Given the description of an element on the screen output the (x, y) to click on. 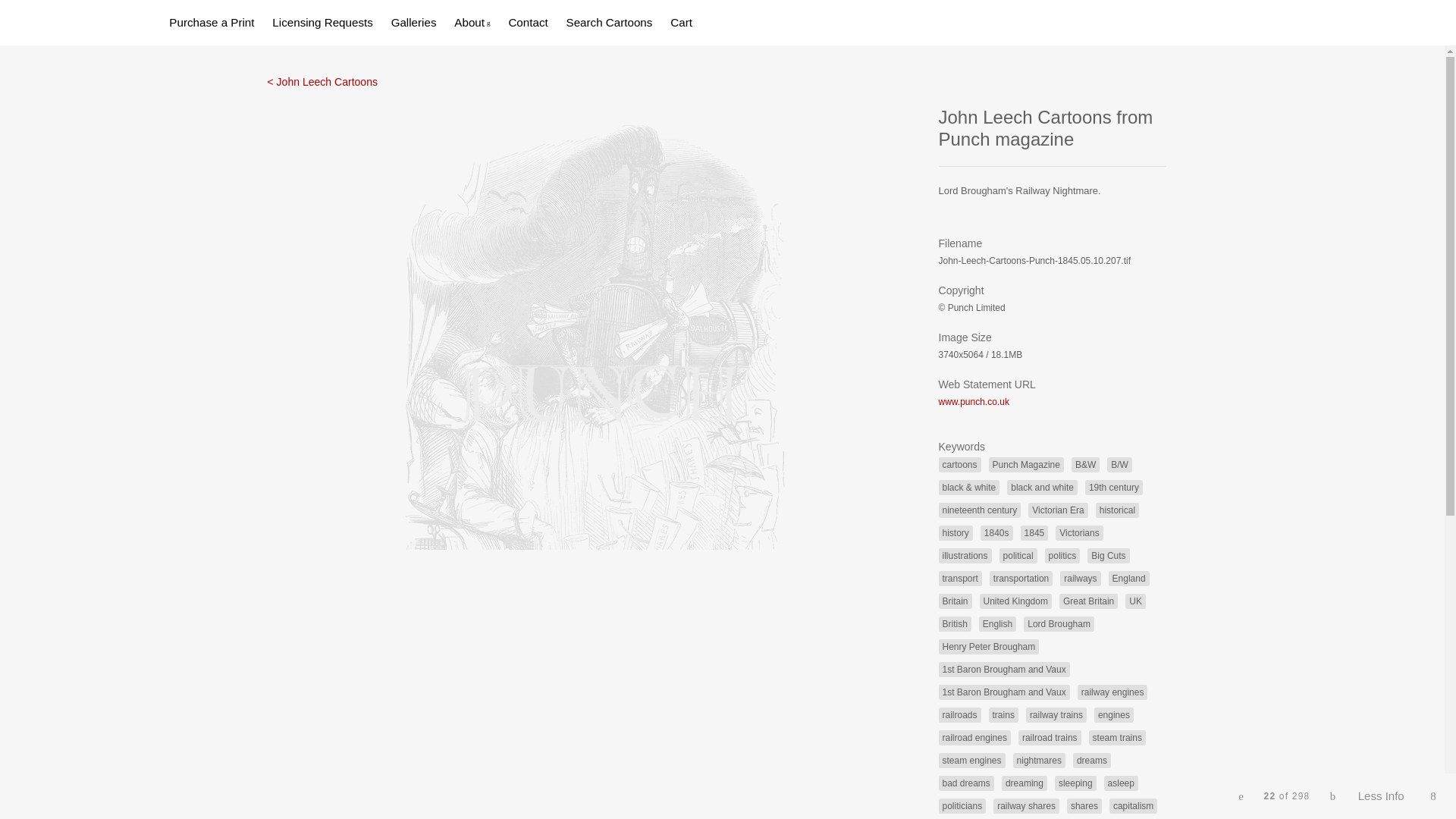
political (1017, 555)
19th century (1113, 487)
Galleries (413, 21)
Search Cartoons (609, 21)
nineteenth century (980, 509)
PUNCH Magazine Cartoon Archive (73, 20)
Victorians (1078, 532)
historical (1117, 509)
illustrations (965, 555)
Contact (527, 21)
